Given the description of an element on the screen output the (x, y) to click on. 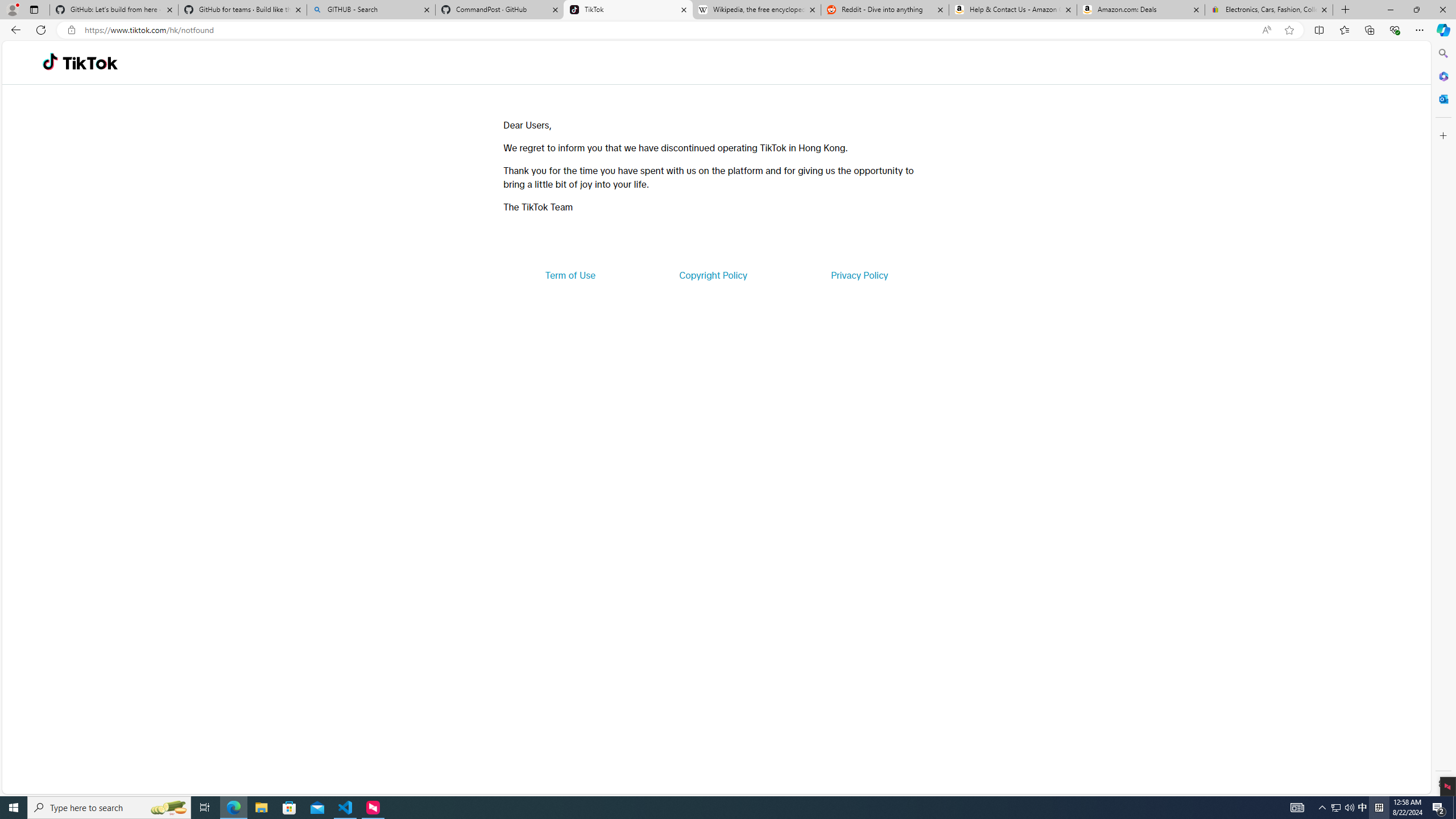
Copyright Policy (712, 274)
GITHUB - Search (370, 9)
Amazon.com: Deals (1140, 9)
